Given the description of an element on the screen output the (x, y) to click on. 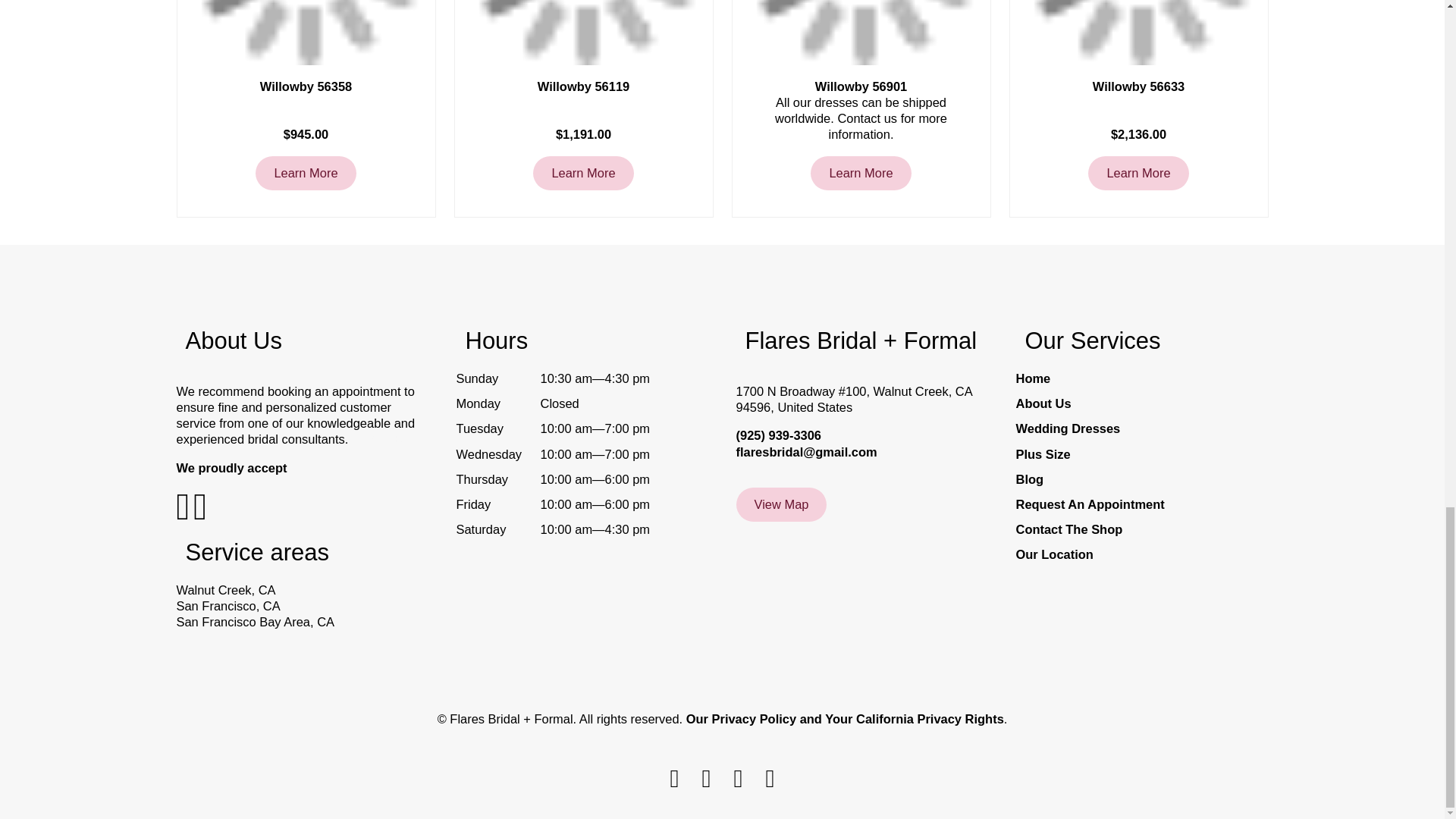
Willowby 56358 (305, 86)
Willowby 56633 (1138, 86)
Learn More (305, 173)
Learn More (582, 173)
Willowby 56119 (583, 86)
Willowby 56901 (860, 86)
Learn More (860, 173)
